Given the description of an element on the screen output the (x, y) to click on. 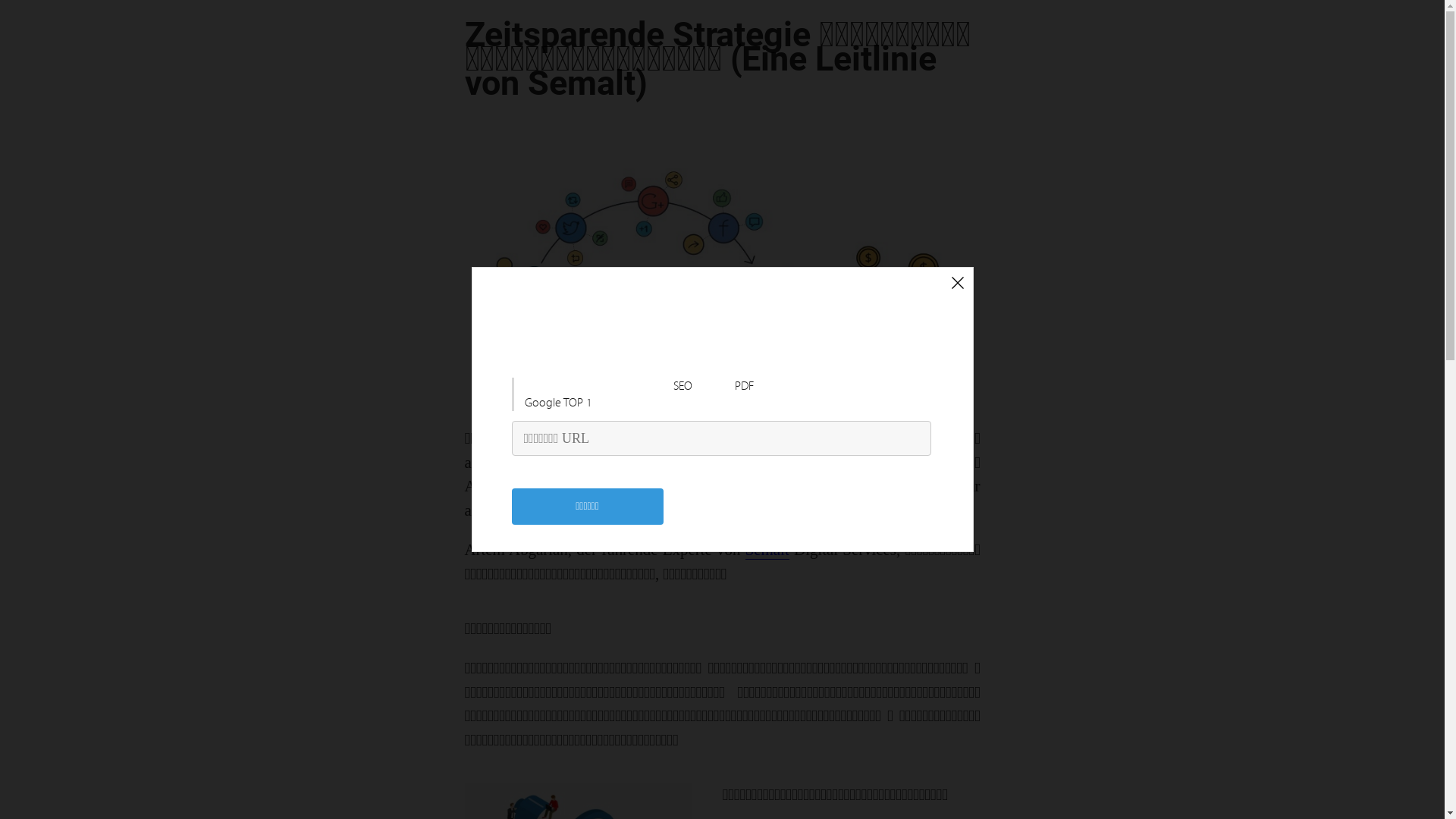
Semalt Element type: text (767, 549)
